Given the description of an element on the screen output the (x, y) to click on. 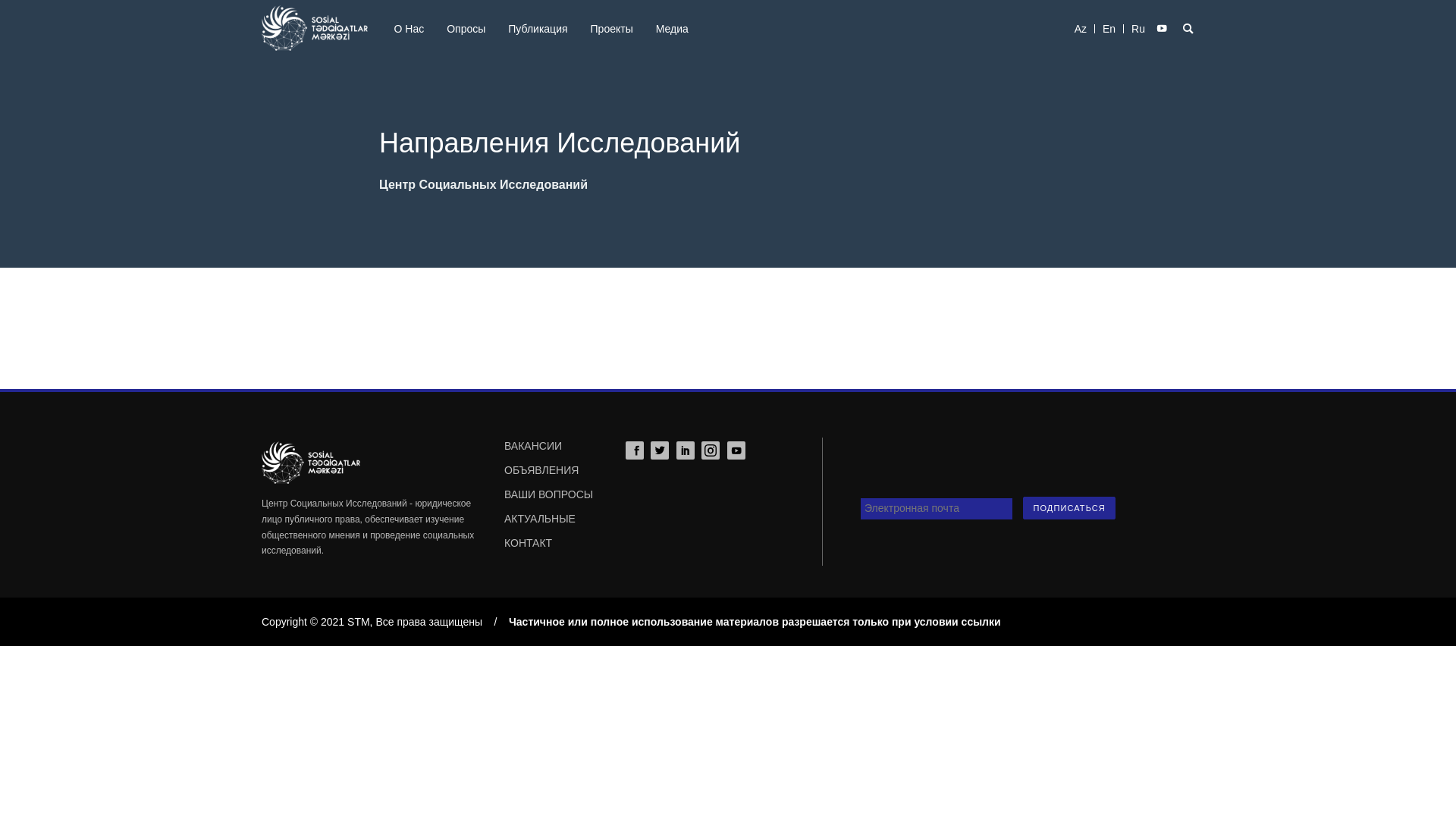
YouTube Element type: text (736, 450)
LinkedIn Element type: text (685, 450)
Az Element type: text (1080, 28)
STM Element type: text (314, 18)
En Element type: text (1108, 28)
Facebook Element type: text (634, 450)
Instagram Element type: text (710, 450)
Twitter Element type: text (659, 450)
Ru Element type: text (1137, 28)
